Given the description of an element on the screen output the (x, y) to click on. 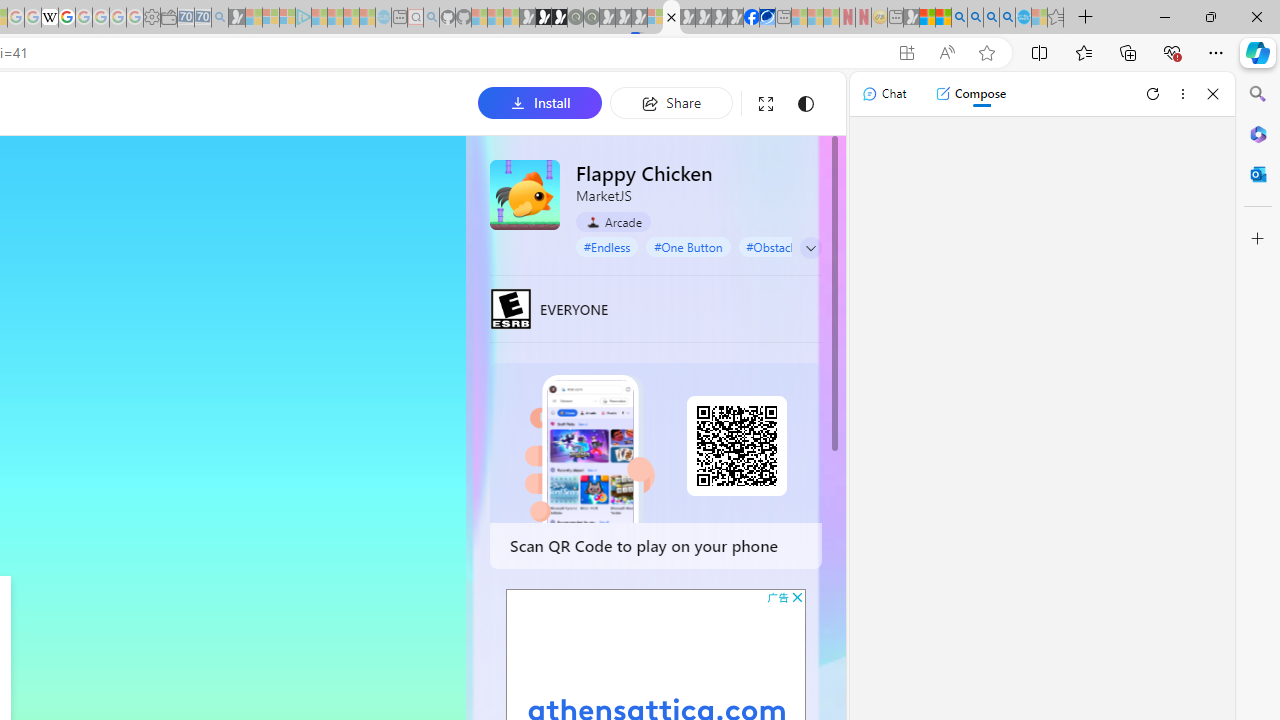
2009 Bing officially replaced Live Search on June 3 - Search (975, 17)
Class: control (811, 248)
